Given the description of an element on the screen output the (x, y) to click on. 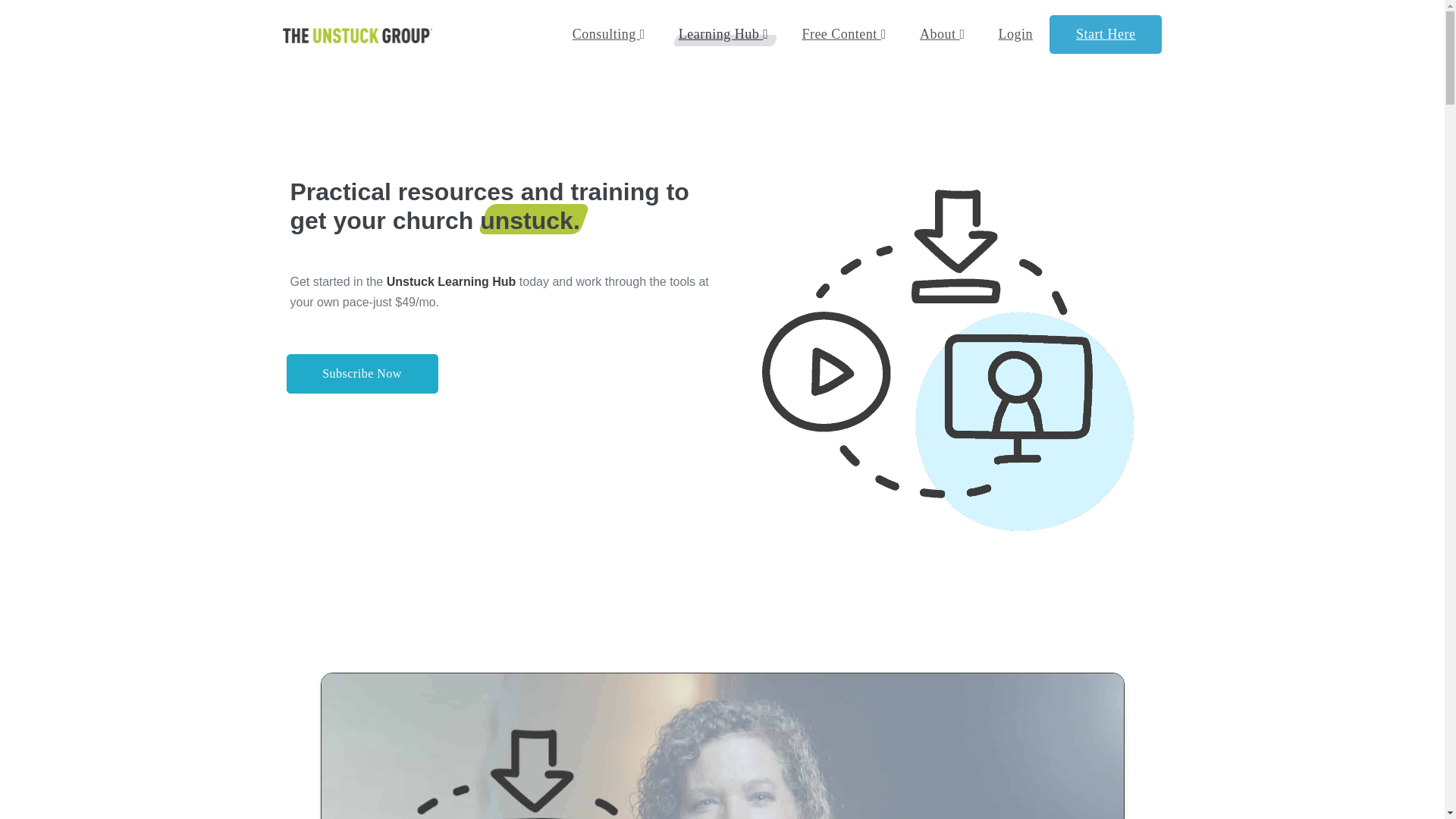
Free Content (843, 34)
Login (1015, 34)
Start Here (1105, 34)
Learning Hub (724, 34)
About (941, 34)
Consulting (609, 34)
The Unstuck Group (356, 34)
Learning Hub Video Shot-2 (722, 746)
